Given the description of an element on the screen output the (x, y) to click on. 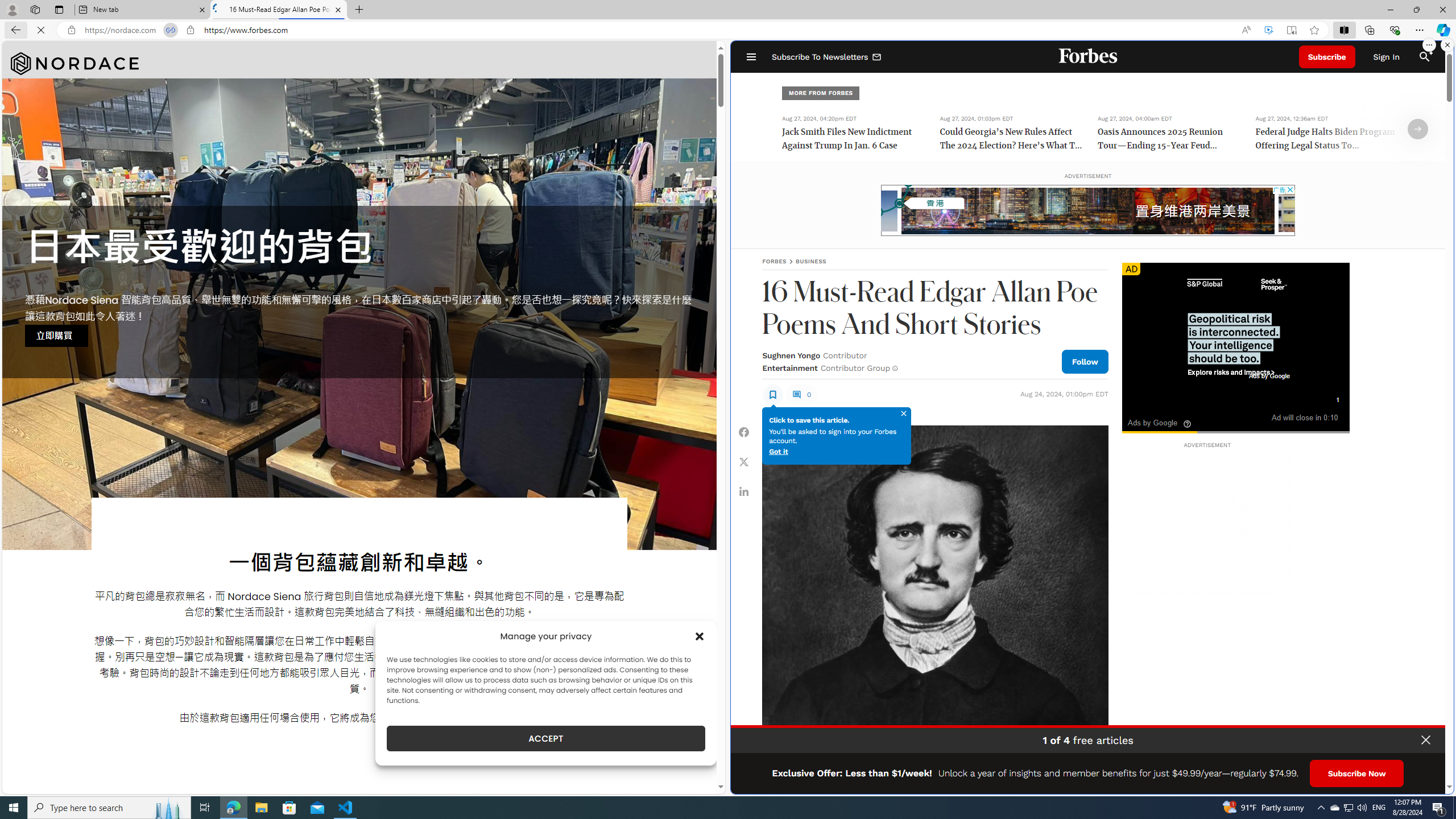
Class: fs-icon fs-icon--arrow-right (1417, 129)
Sughnen Yongo (790, 354)
Class: cmplz-close (699, 636)
Pause (SPACE) (1135, 416)
Close split screen. (1447, 45)
16 Must-Read Edgar Allan Poe Poems And Short Stories (277, 9)
Tabs in split screen (170, 29)
